Given the description of an element on the screen output the (x, y) to click on. 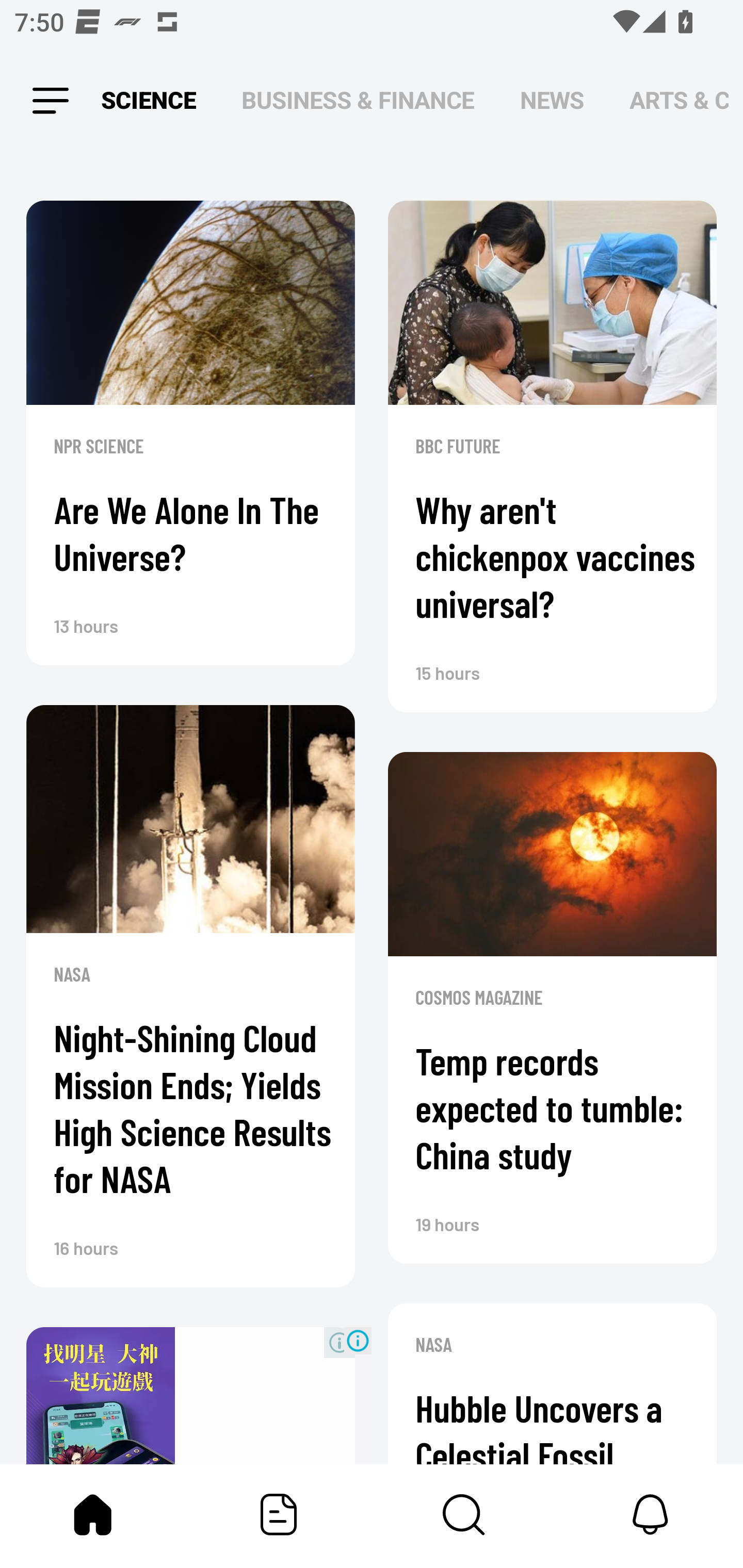
Leading Icon (50, 101)
BUSINESS & FINANCE (357, 100)
NEWS (551, 100)
ARTS & CULTURE (678, 100)
Ad Choices Icon (357, 1340)
Featured (278, 1514)
Content Store (464, 1514)
Notifications (650, 1514)
